Given the description of an element on the screen output the (x, y) to click on. 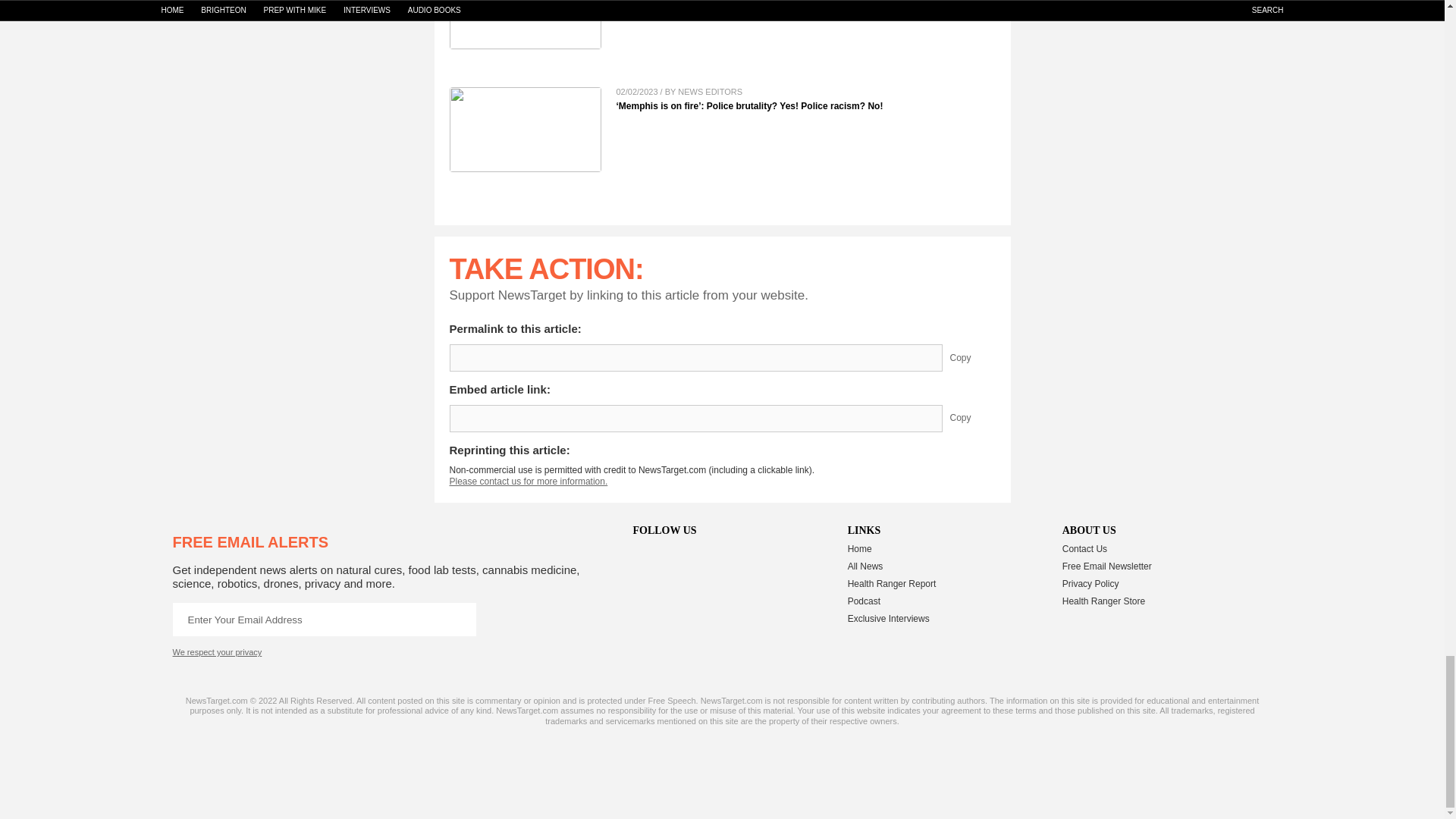
Continue (459, 619)
Copy Permalink (971, 357)
Copy Embed Link (971, 418)
